Given the description of an element on the screen output the (x, y) to click on. 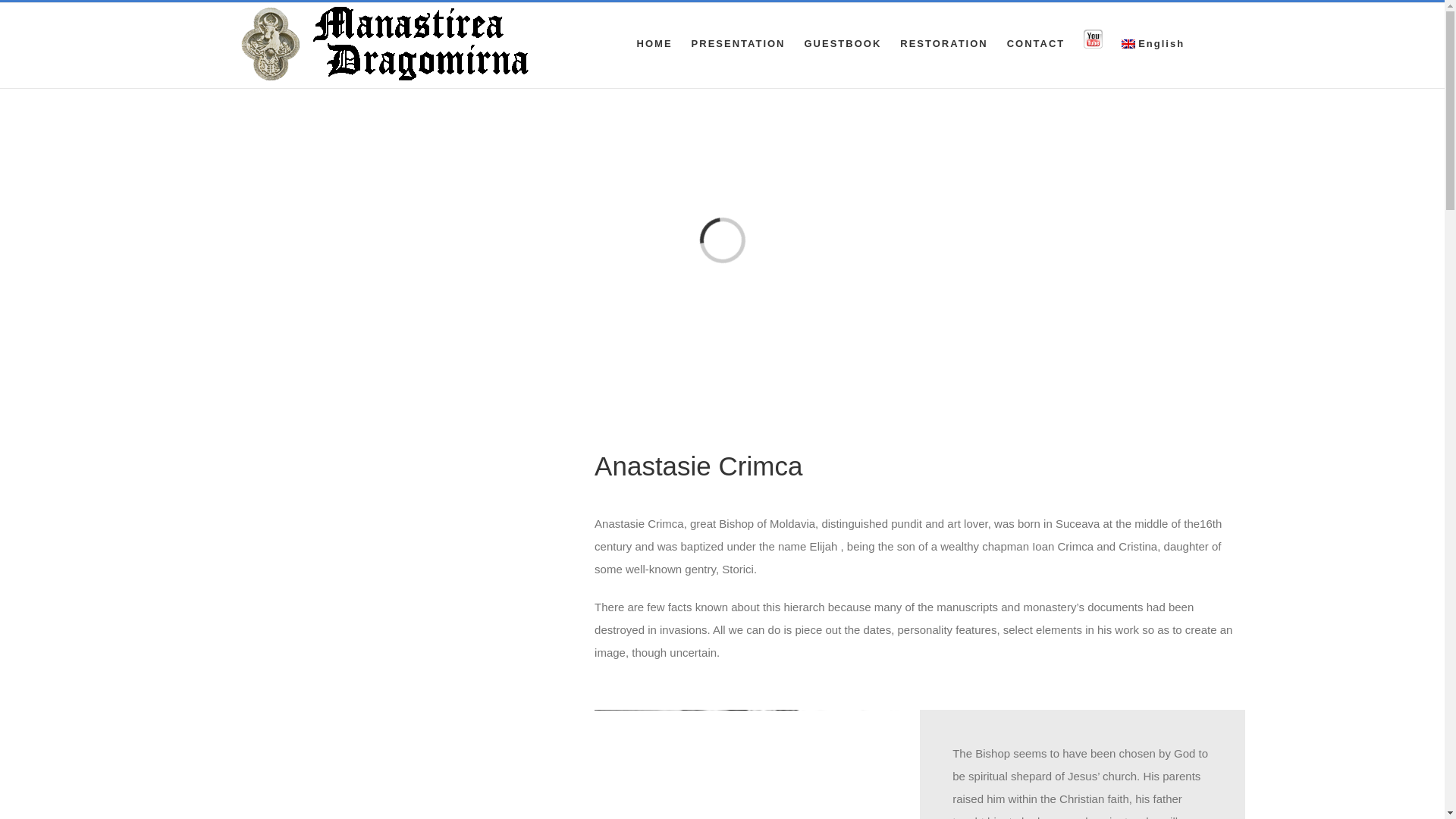
RESTORATION (943, 43)
GUESTBOOK (841, 43)
PRESENTATION (738, 43)
